Given the description of an element on the screen output the (x, y) to click on. 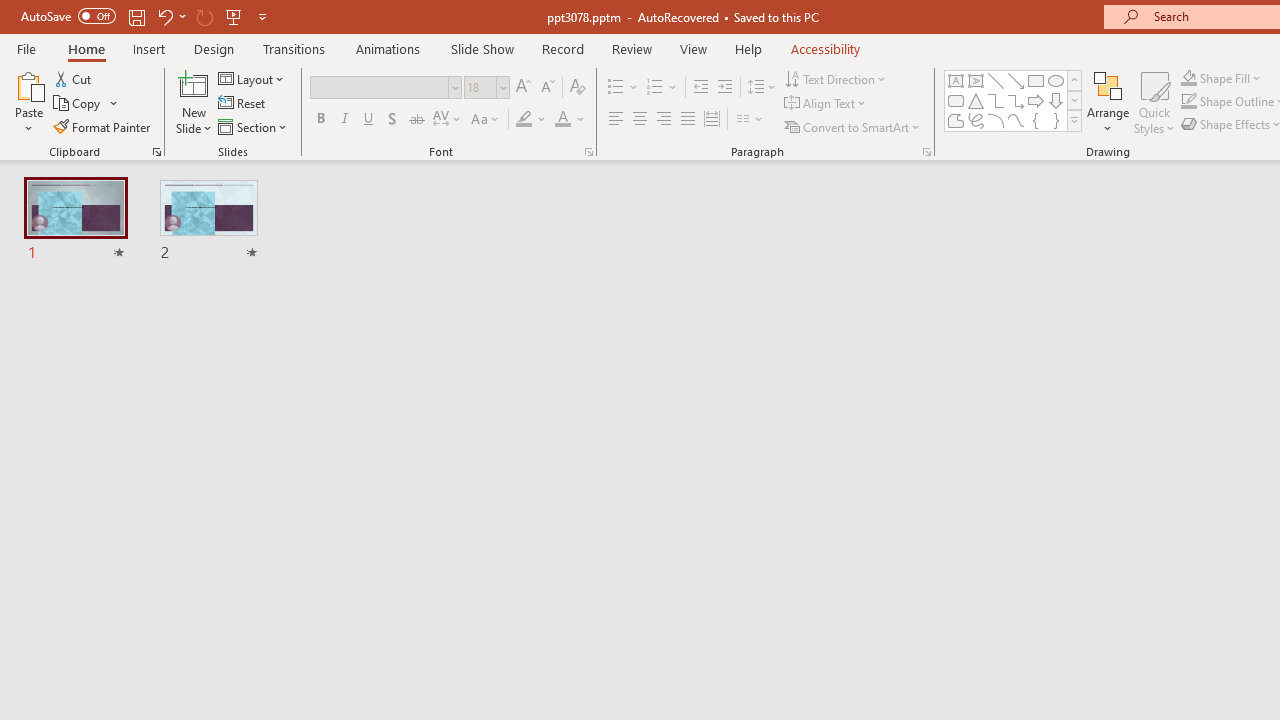
Line (995, 80)
Numbering (654, 87)
New Slide (193, 102)
Text Highlight Color (531, 119)
Numbering (661, 87)
Italic (344, 119)
Shape Outline Green, Accent 1 (1188, 101)
Vertical Text Box (975, 80)
Section (254, 126)
View (693, 48)
Arrange (1108, 102)
Row Down (1074, 100)
Left Brace (1035, 120)
